Given the description of an element on the screen output the (x, y) to click on. 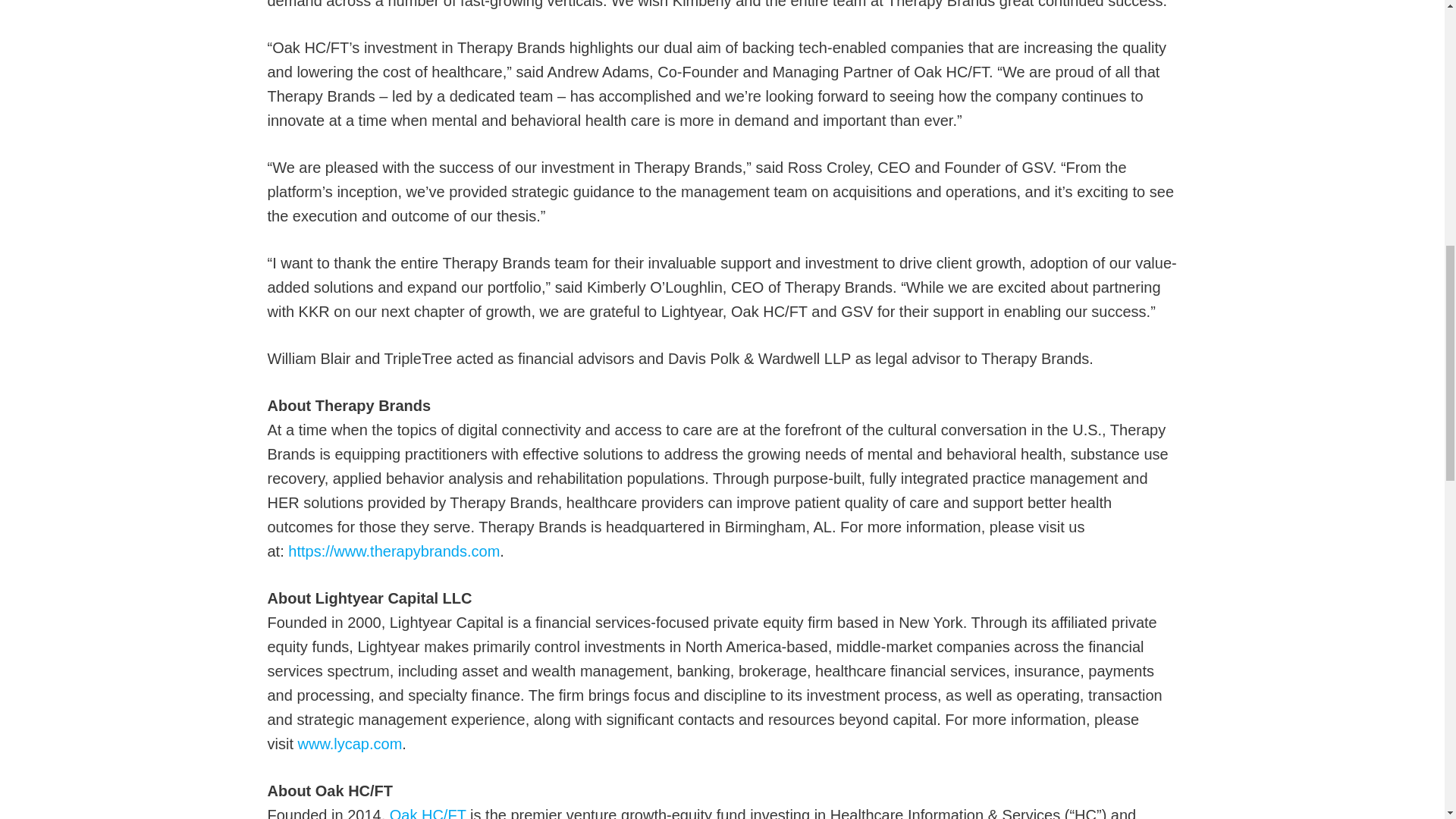
www.lycap.com (349, 743)
